Given the description of an element on the screen output the (x, y) to click on. 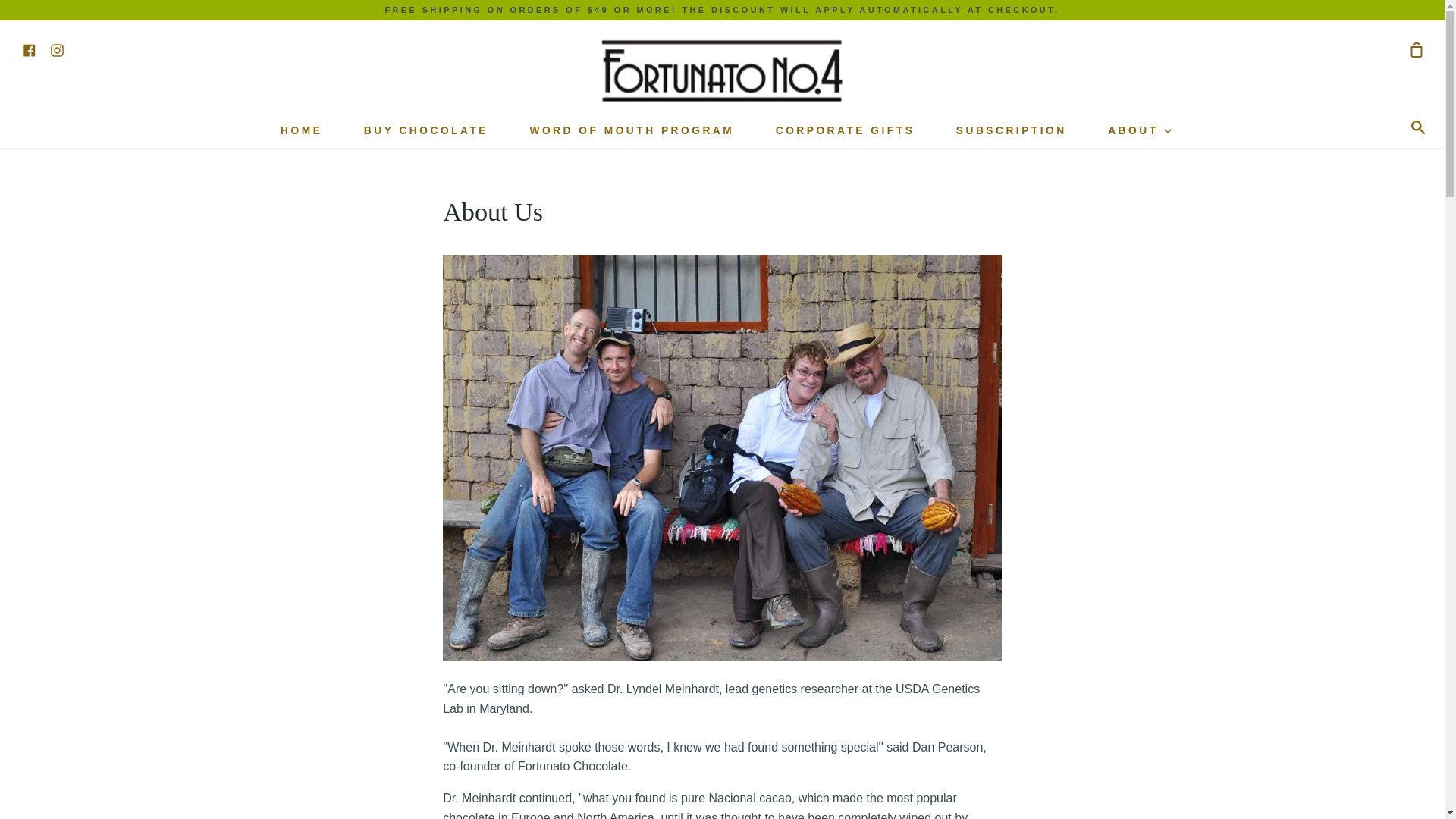
ABOUT (1138, 130)
HOME (301, 130)
FortunatoNo4 on Facebook (28, 48)
SUBSCRIPTION (1011, 130)
WORD OF MOUTH PROGRAM (631, 130)
FortunatoNo4 on Instagram (57, 48)
Facebook (28, 48)
Instagram (57, 48)
CORPORATE GIFTS (844, 130)
BUY CHOCOLATE (425, 130)
